Given the description of an element on the screen output the (x, y) to click on. 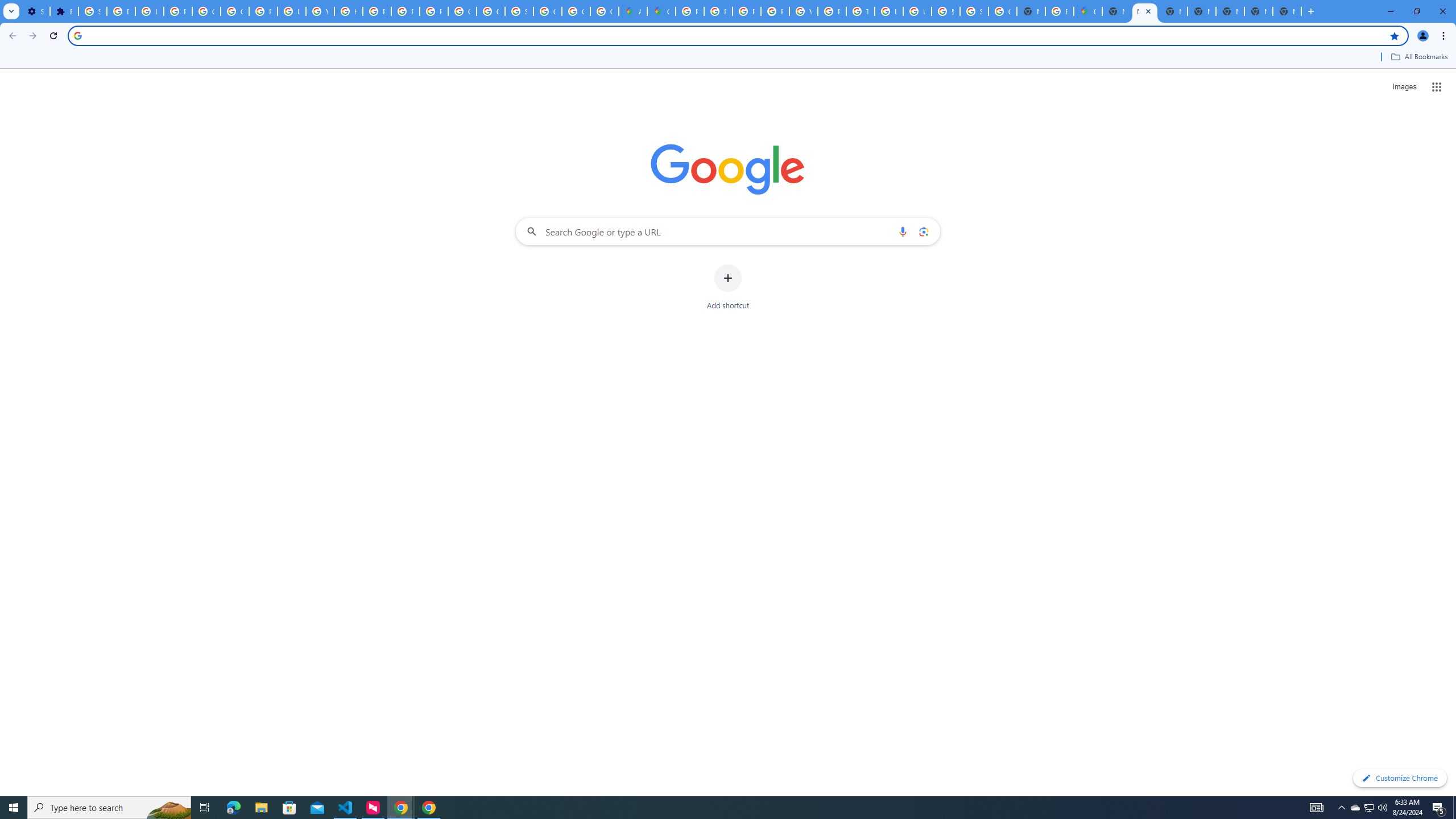
Sign in - Google Accounts (973, 11)
Settings - On startup (35, 11)
YouTube (803, 11)
